Given the description of an element on the screen output the (x, y) to click on. 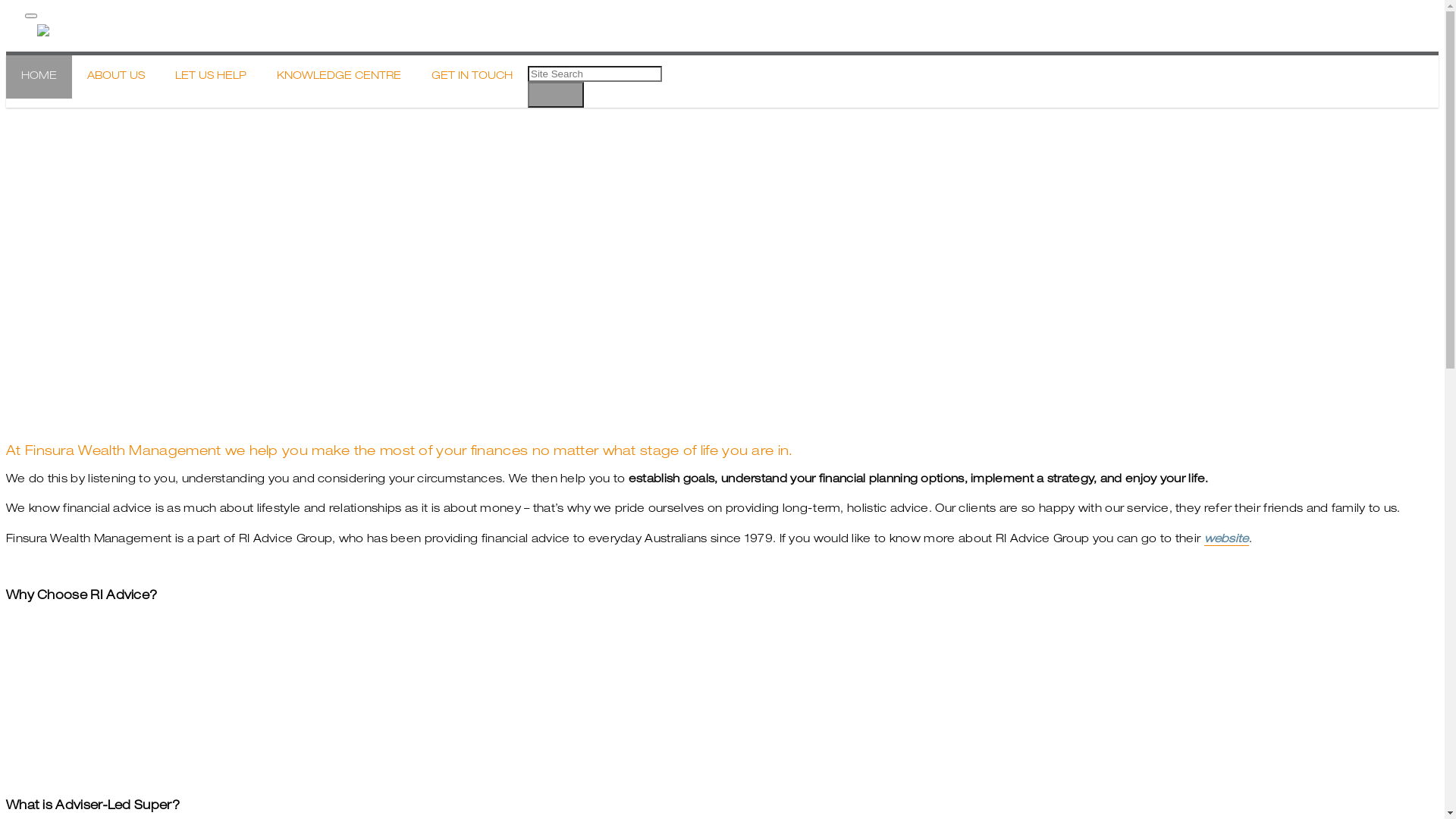
ABOUT US Element type: text (116, 76)
LET US HELP Element type: text (210, 76)
website Element type: text (1226, 540)
KNOWLEDGE CENTRE Element type: text (338, 76)
HOME Element type: text (39, 76)
GET IN TOUCH Element type: text (471, 76)
